Given the description of an element on the screen output the (x, y) to click on. 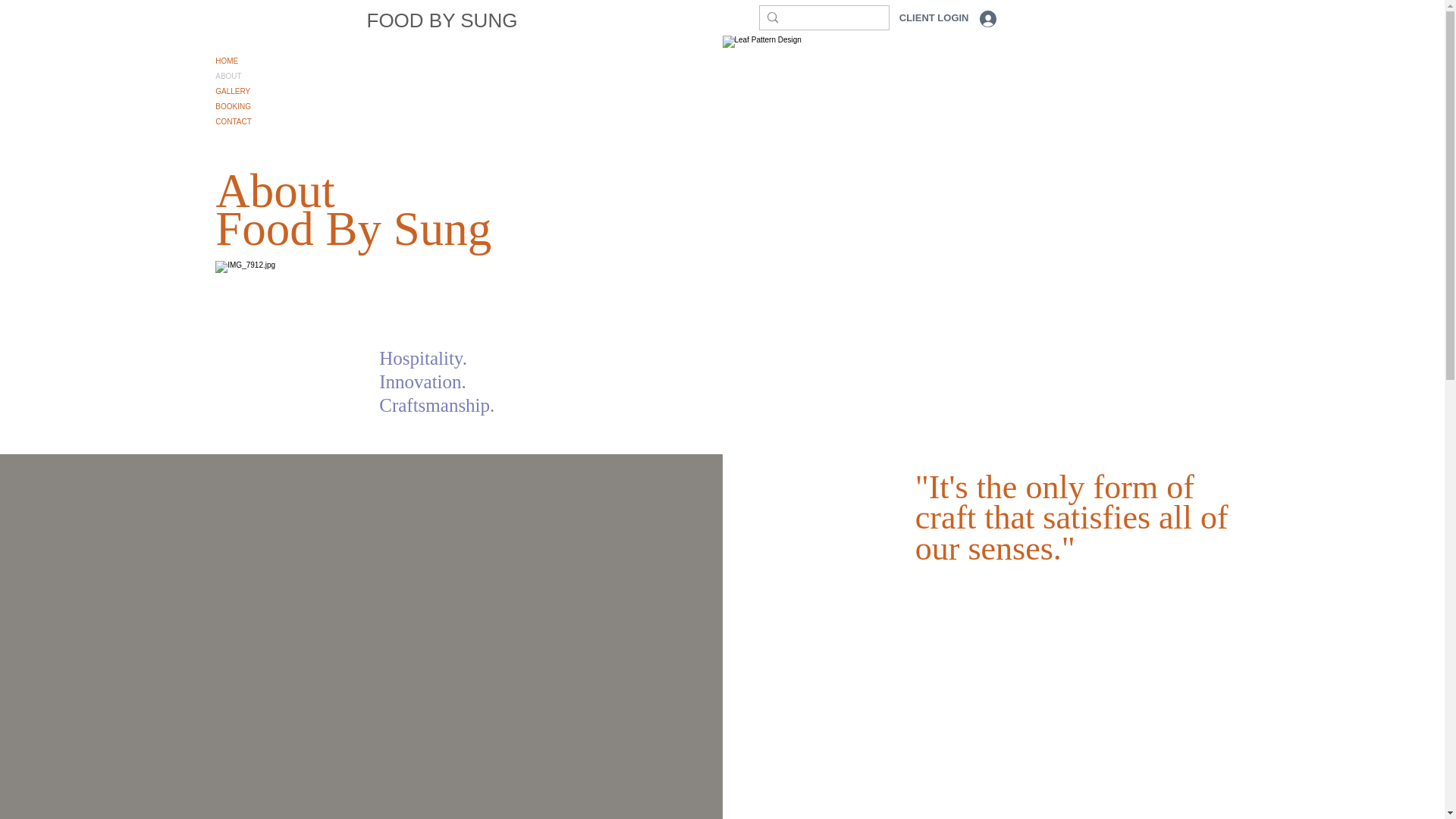
FOOD BY SUNG (442, 20)
GALLERY (268, 91)
CLIENT LOGIN (958, 18)
HOME (268, 61)
CONTACT (268, 121)
BOOKING (268, 106)
ABOUT (268, 76)
